Given the description of an element on the screen output the (x, y) to click on. 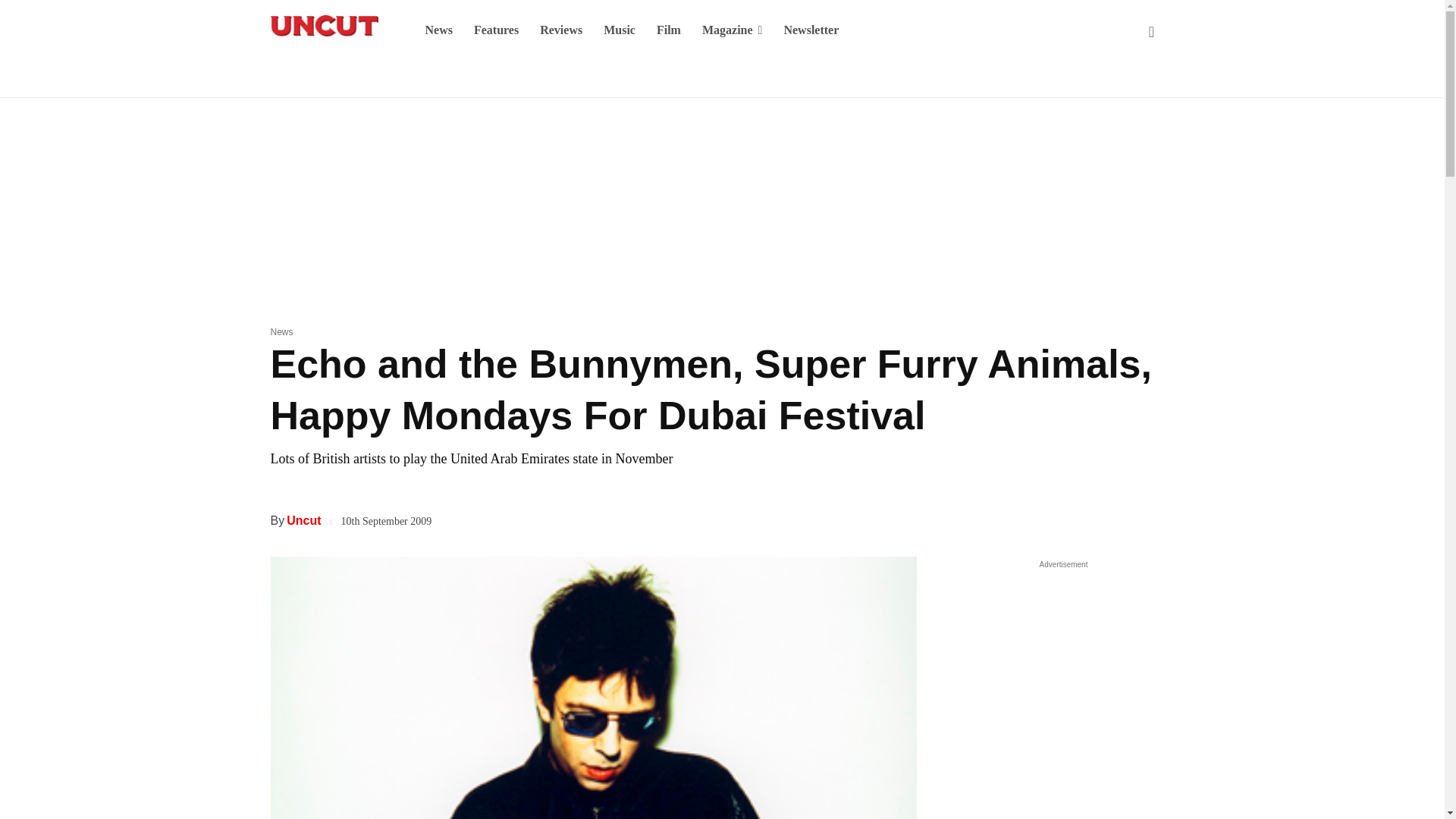
View all posts in News (280, 331)
Features (496, 30)
Magazine (732, 30)
Reviews (560, 30)
Newsletter (810, 30)
Uncut Logo (323, 25)
